Given the description of an element on the screen output the (x, y) to click on. 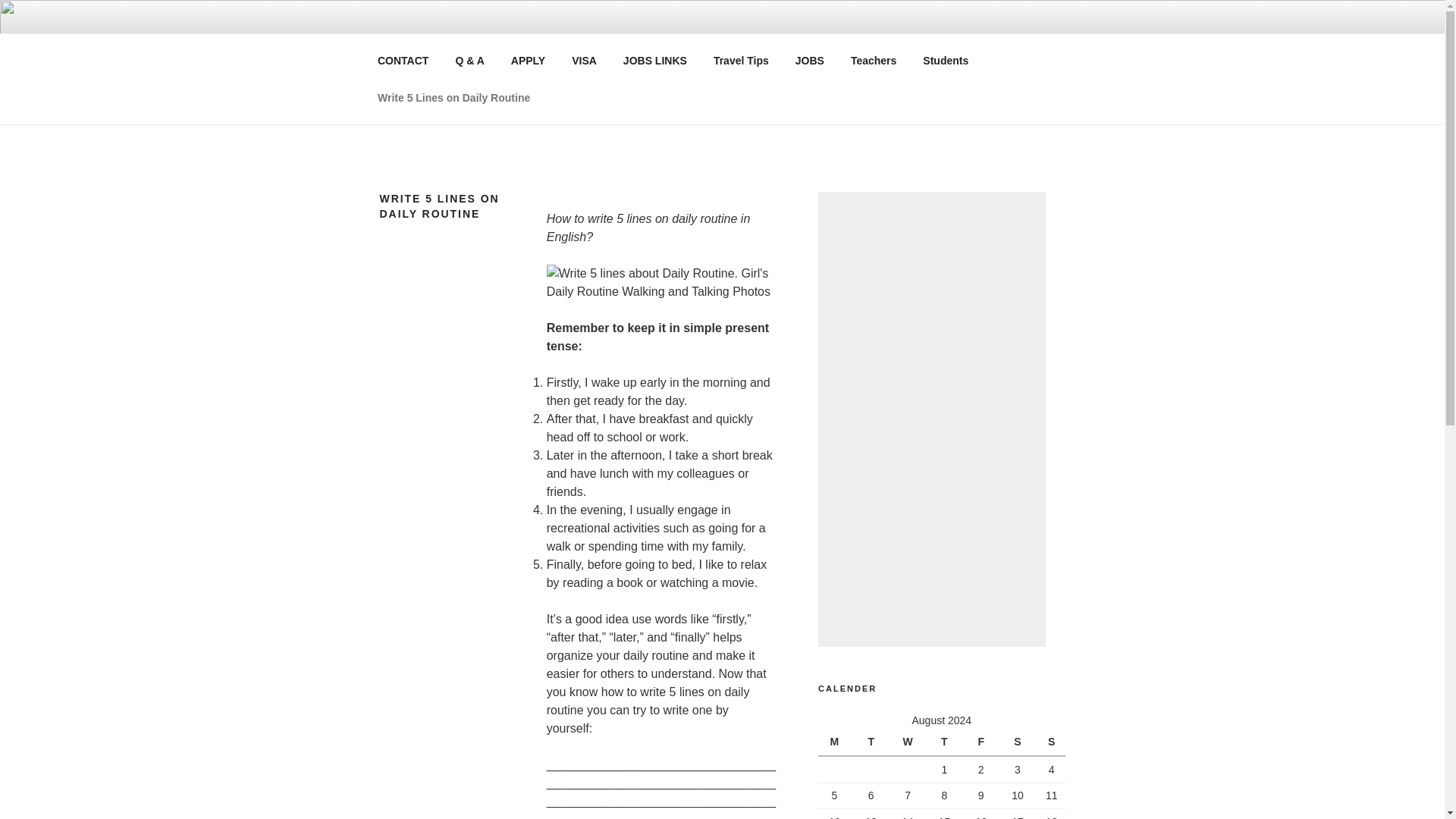
Sunday (1051, 741)
Saturday (1019, 741)
Write 5 Lines on Daily Routine (453, 97)
Monday (836, 741)
Tuesday (872, 741)
Thursday (945, 741)
Students (945, 60)
Teachers (872, 60)
VISA (584, 60)
Wednesday (909, 741)
CONTACT (402, 60)
APPLY (527, 60)
JOBS LINKS (655, 60)
Friday (982, 741)
Travel Tips (740, 60)
